Given the description of an element on the screen output the (x, y) to click on. 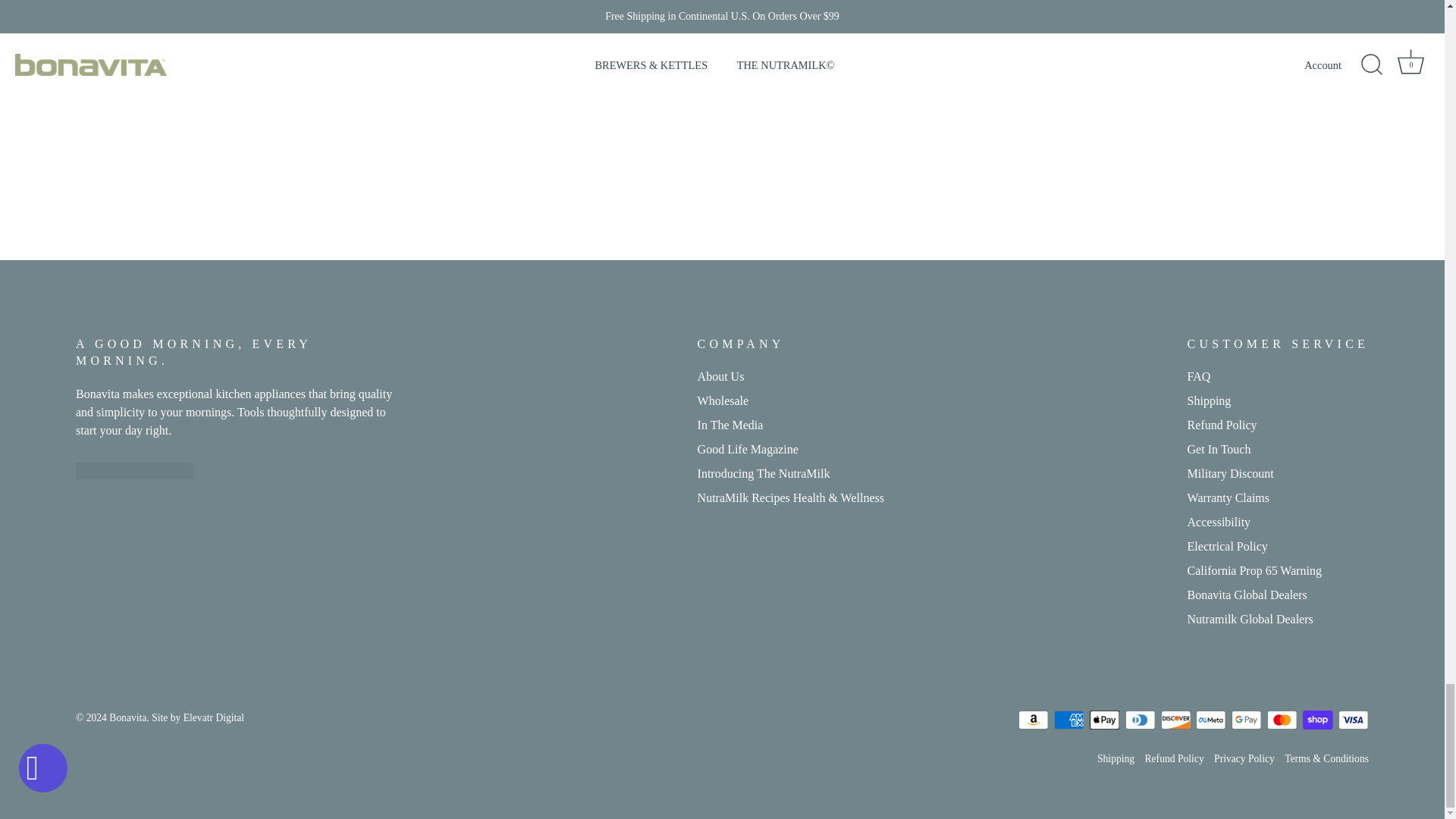
Visa (1353, 719)
Meta Pay (1210, 719)
Mastercard (1281, 719)
American Express (1069, 719)
Shop Pay (1317, 719)
Google Pay (1245, 719)
Amazon (1032, 719)
Discover (1174, 719)
Apple Pay (1104, 719)
Diners Club (1140, 719)
